Given the description of an element on the screen output the (x, y) to click on. 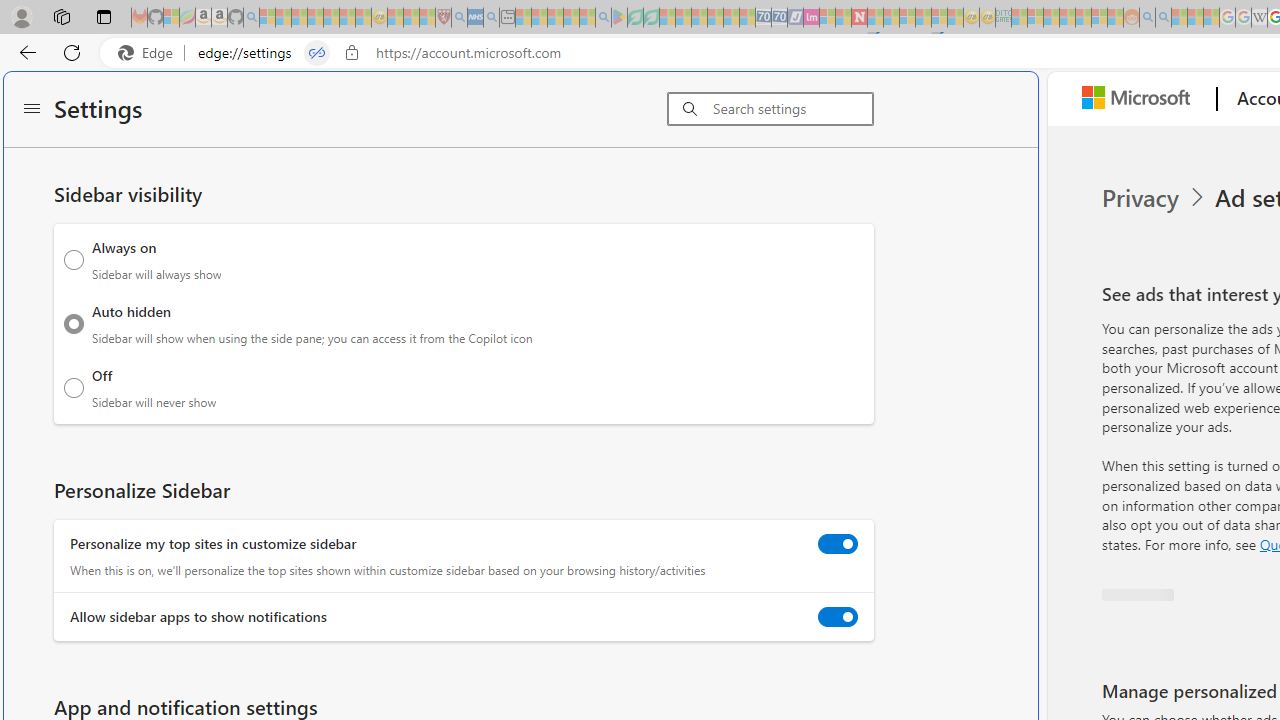
Expert Portfolios - Sleeping (1067, 17)
Tabs in split screen (317, 53)
Allow sidebar apps to show notifications (837, 616)
Personalize my top sites in customize sidebar (837, 543)
Target page - Wikipedia - Sleeping (1259, 17)
The Weather Channel - MSN - Sleeping (299, 17)
Bluey: Let's Play! - Apps on Google Play - Sleeping (619, 17)
